Given the description of an element on the screen output the (x, y) to click on. 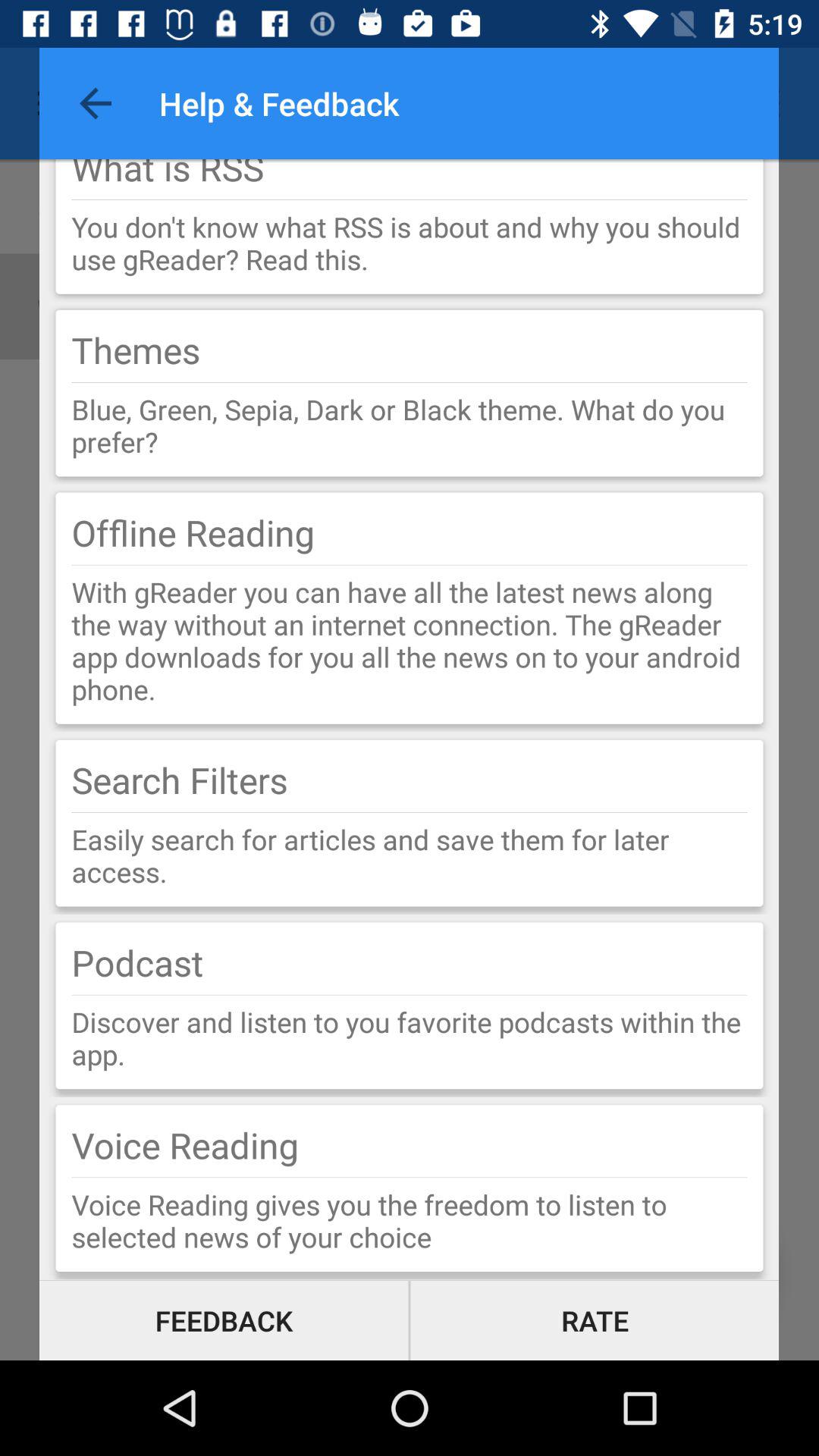
select the item above voice reading item (409, 1038)
